Given the description of an element on the screen output the (x, y) to click on. 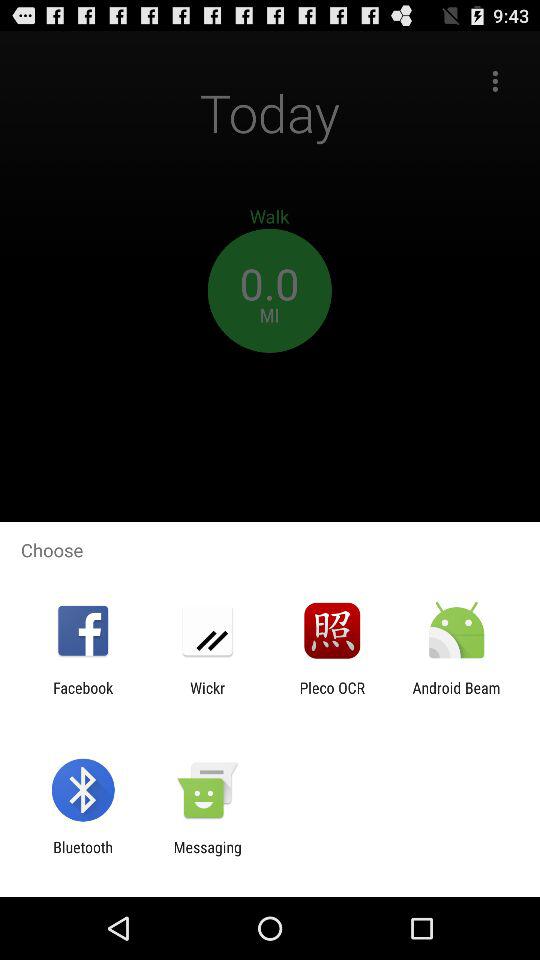
click the android beam (456, 696)
